Given the description of an element on the screen output the (x, y) to click on. 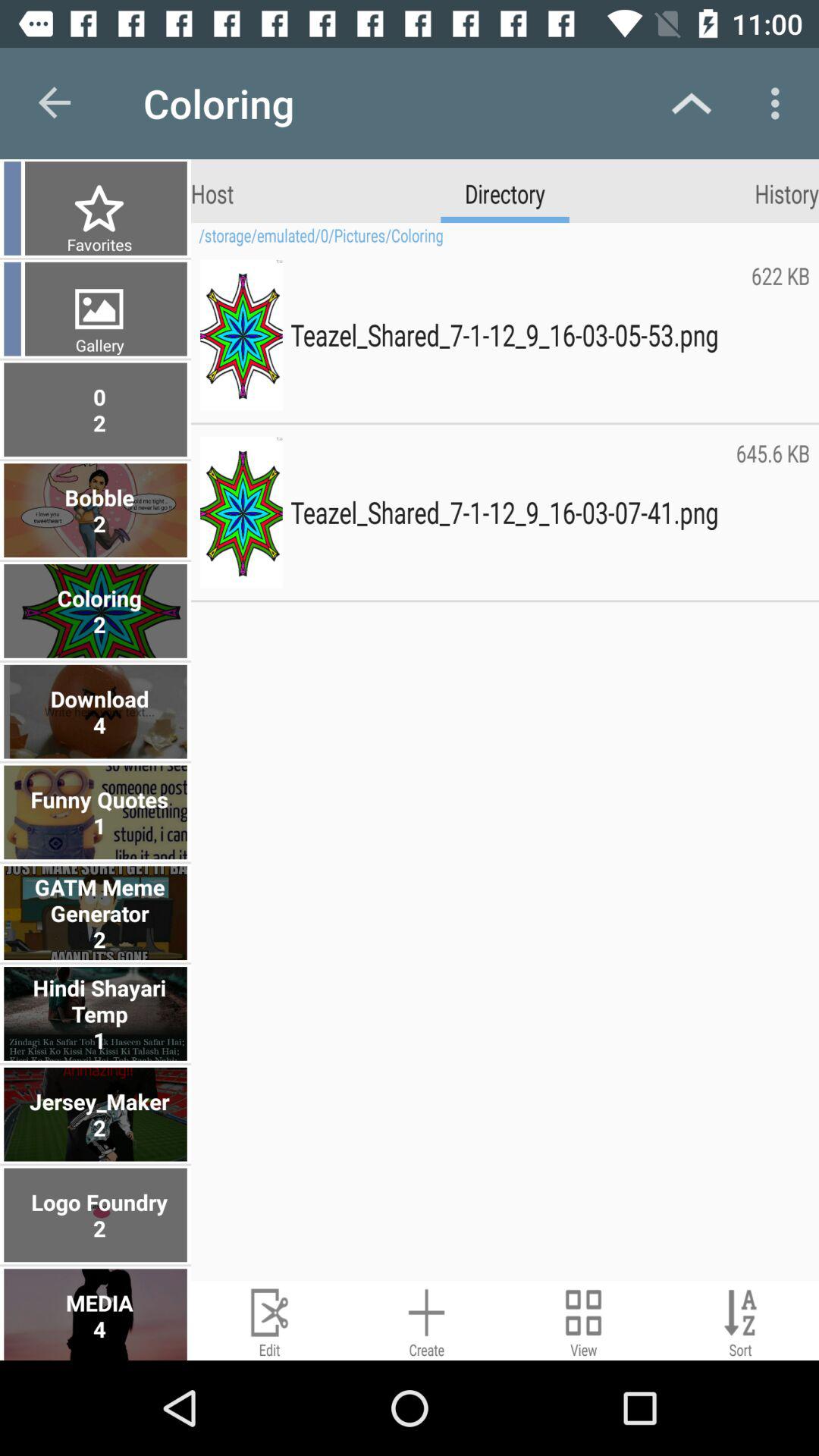
flip until the       item (12, 309)
